Given the description of an element on the screen output the (x, y) to click on. 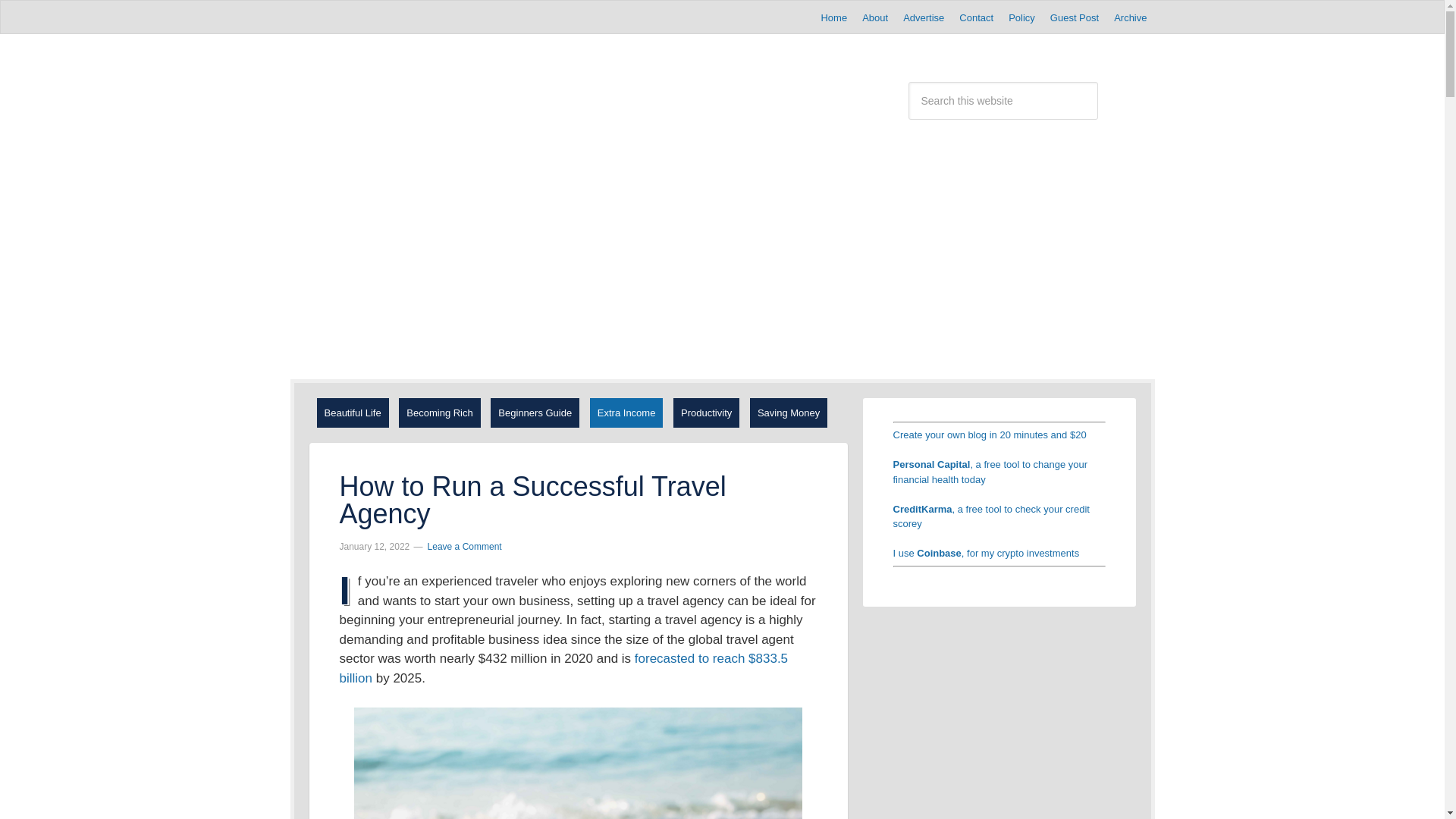
Beautiful Life (352, 412)
Policy (1021, 16)
Leave a Comment (465, 546)
How to Run a Successful Travel Agency  (532, 499)
About (874, 16)
Productivity (705, 412)
Home (833, 16)
Beginners Guide (534, 412)
Advertise (923, 16)
Saving Money (788, 412)
ONE CENT AT A TIME (510, 95)
Becoming Rich (439, 412)
Guest Post (1074, 16)
